Given the description of an element on the screen output the (x, y) to click on. 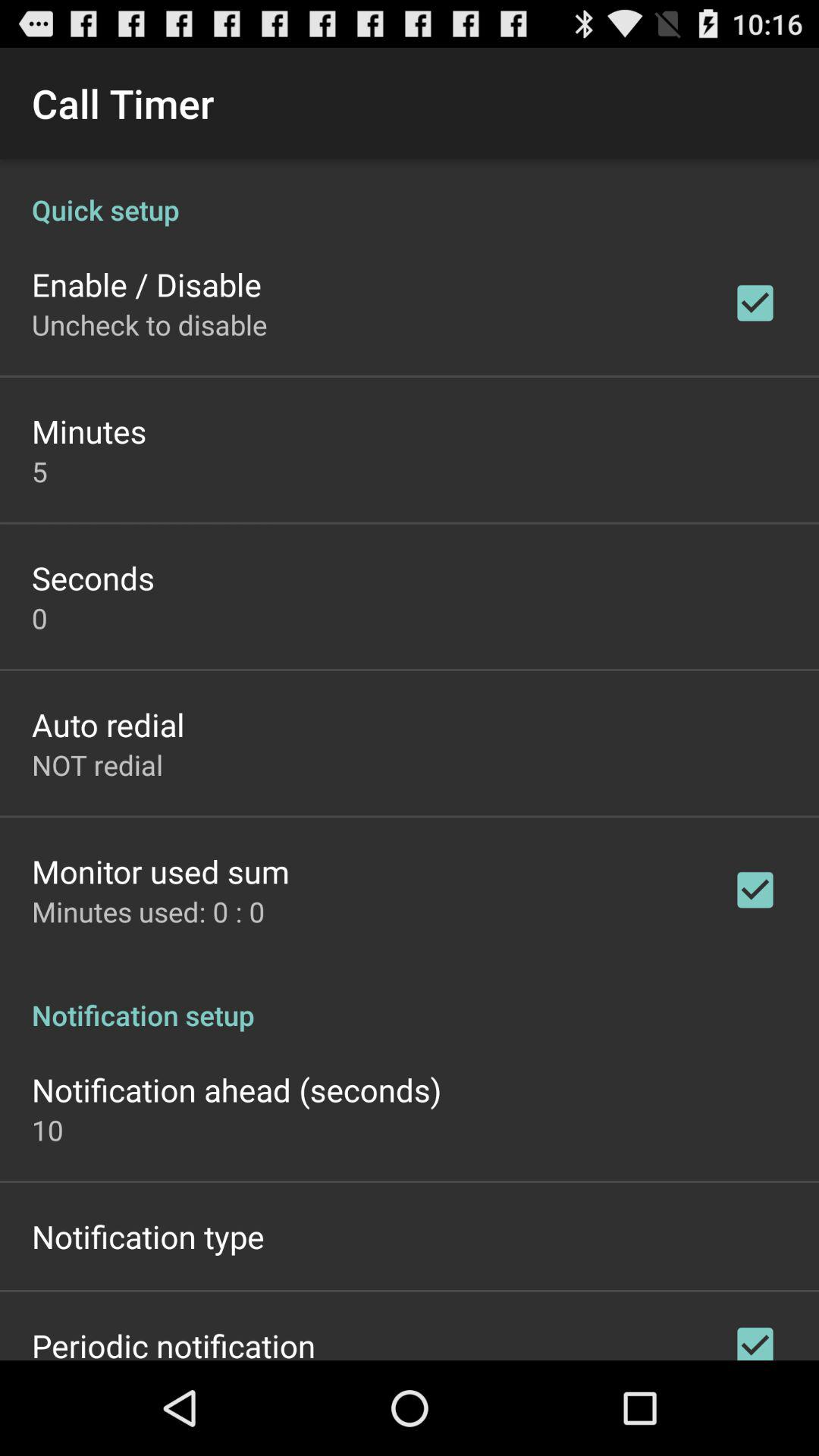
jump to 10 icon (47, 1129)
